Given the description of an element on the screen output the (x, y) to click on. 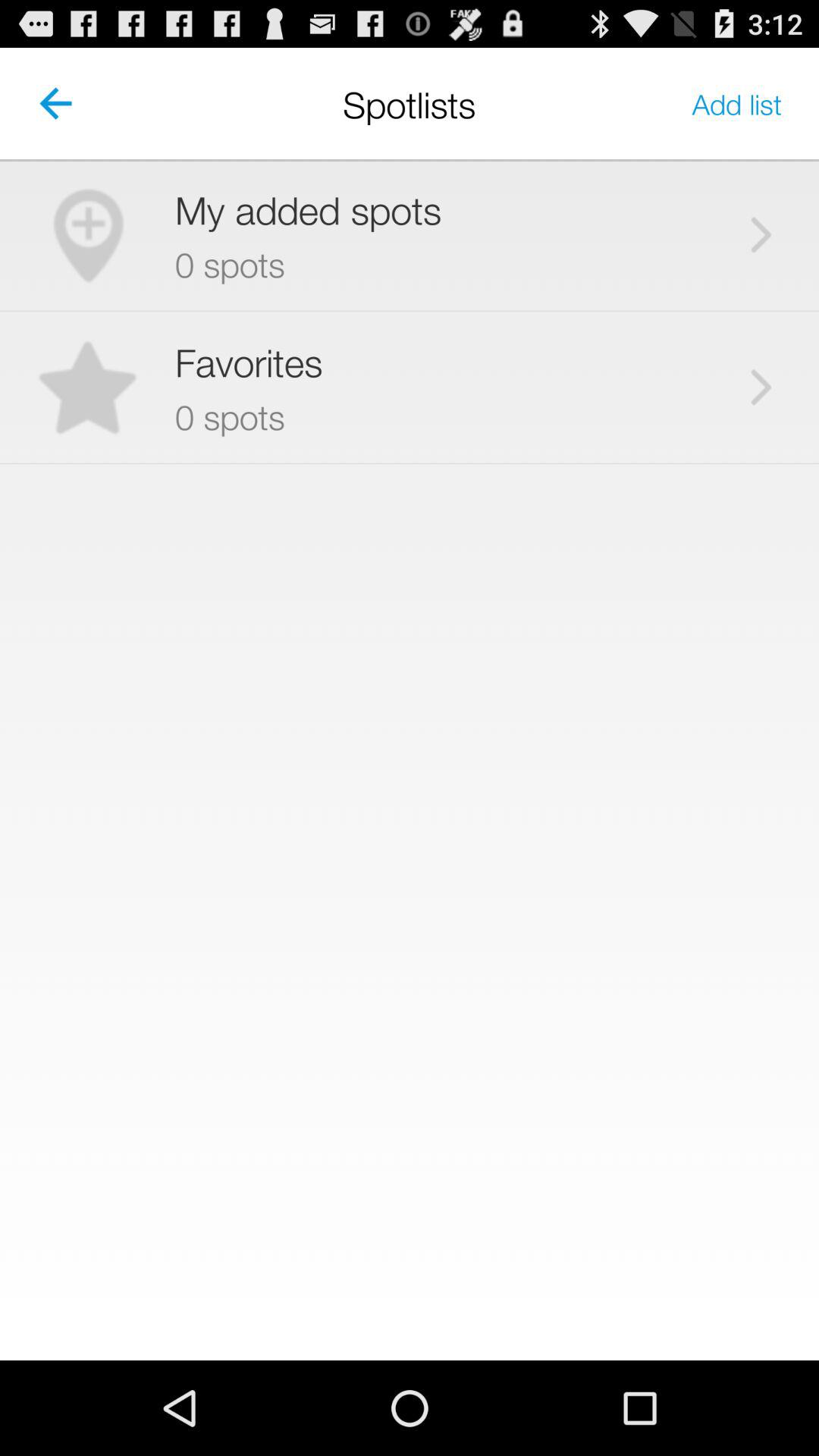
launch icon to the right of the spotlists (737, 103)
